Given the description of an element on the screen output the (x, y) to click on. 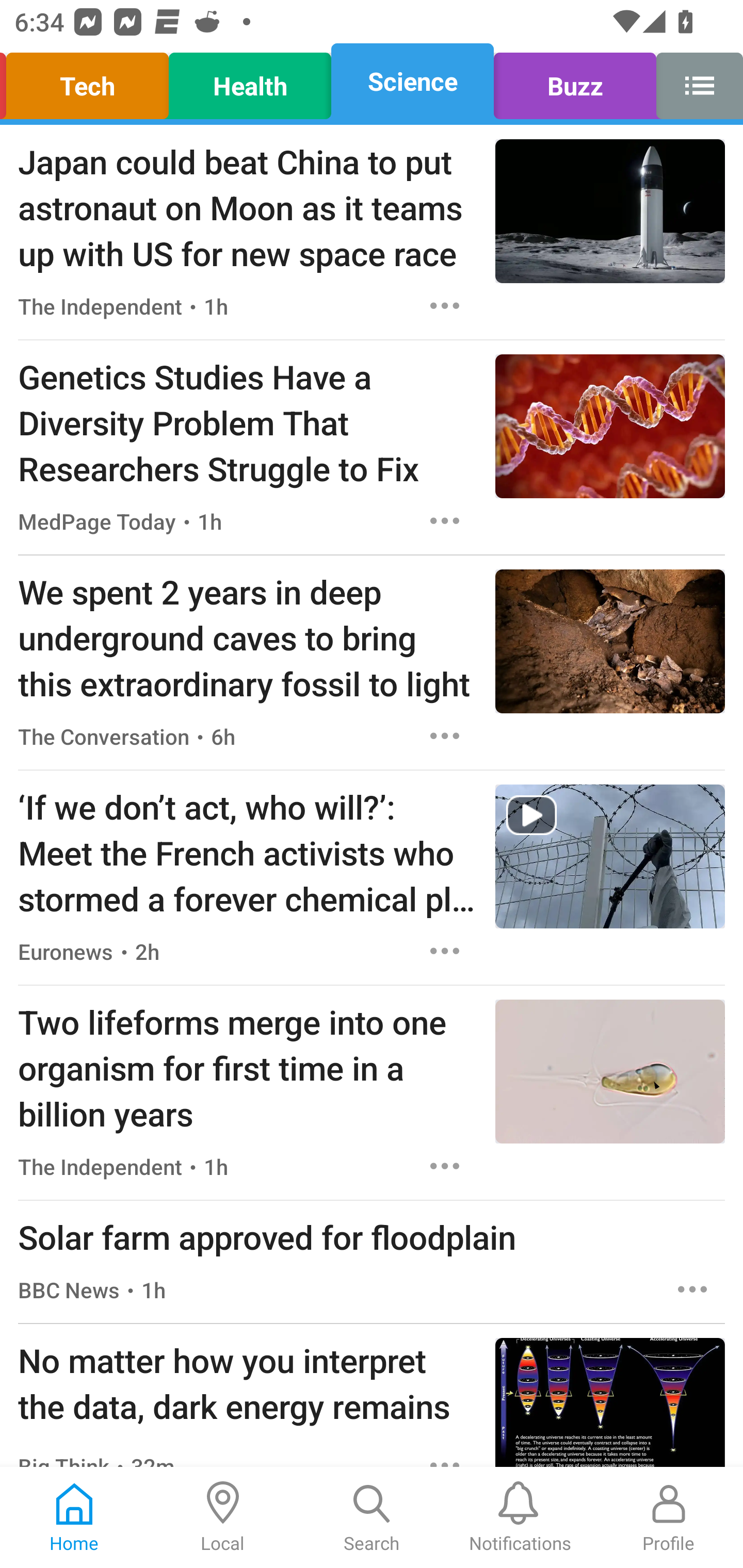
Tech (89, 81)
Health (249, 81)
Science (412, 81)
Buzz (574, 81)
 (694, 81)
Options (444, 305)
Options (444, 520)
Options (444, 736)
Options (444, 950)
Options (444, 1166)
Options (692, 1289)
Local (222, 1517)
Search (371, 1517)
Notifications (519, 1517)
Profile (668, 1517)
